Given the description of an element on the screen output the (x, y) to click on. 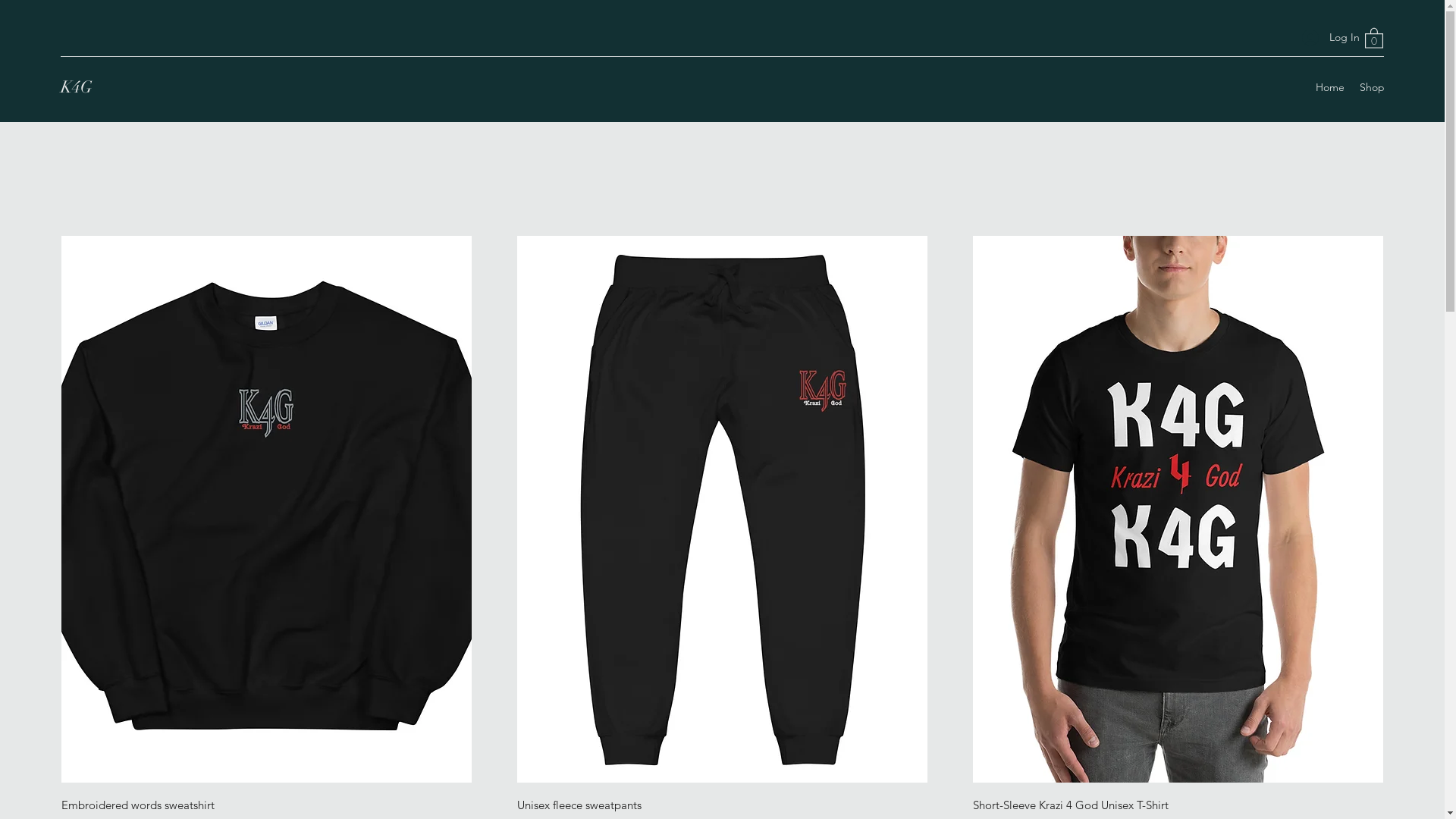
K4G Element type: text (76, 86)
Home Element type: text (1330, 86)
Shop Element type: text (1372, 86)
0 Element type: text (1374, 37)
Log In Element type: text (1325, 37)
